Given the description of an element on the screen output the (x, y) to click on. 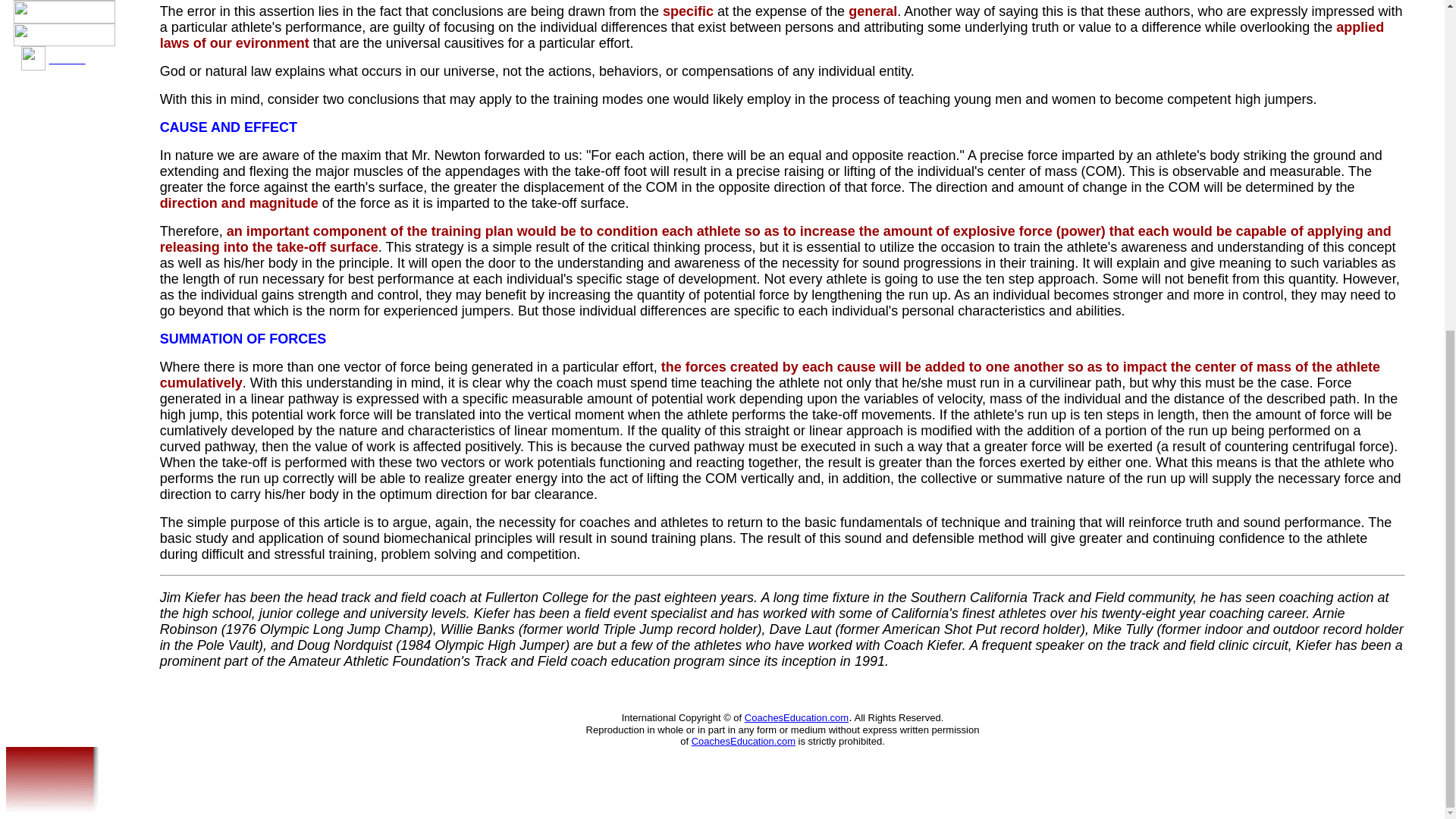
Email (67, 57)
CoachesEducation.com (742, 739)
CoachesEducation.com (796, 716)
